Given the description of an element on the screen output the (x, y) to click on. 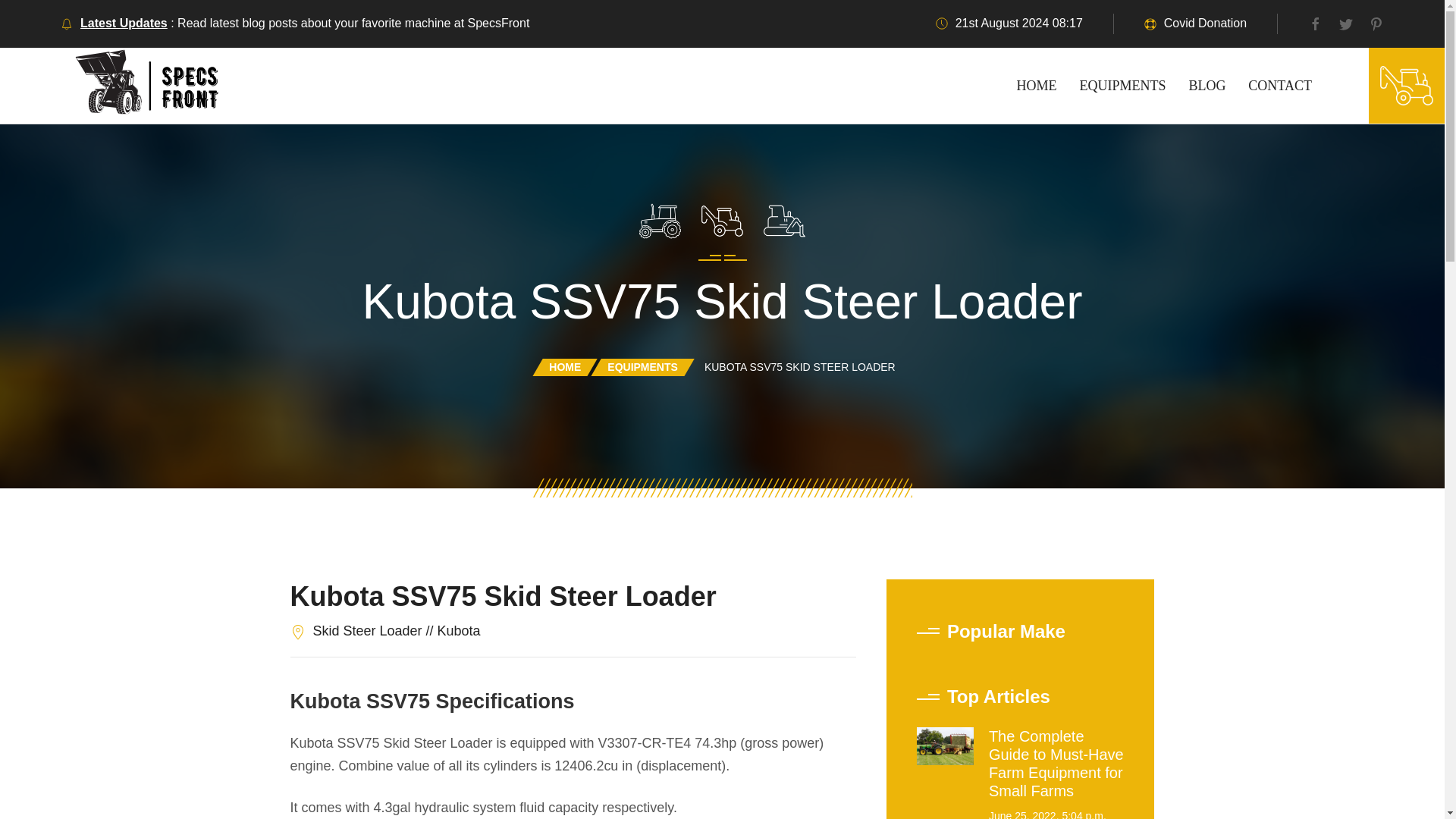
CONTACT (1279, 85)
Covid Donation (1204, 22)
EQUIPMENTS (641, 366)
HOME (564, 366)
EQUIPMENTS (1121, 85)
Latest Updates (123, 22)
